Given the description of an element on the screen output the (x, y) to click on. 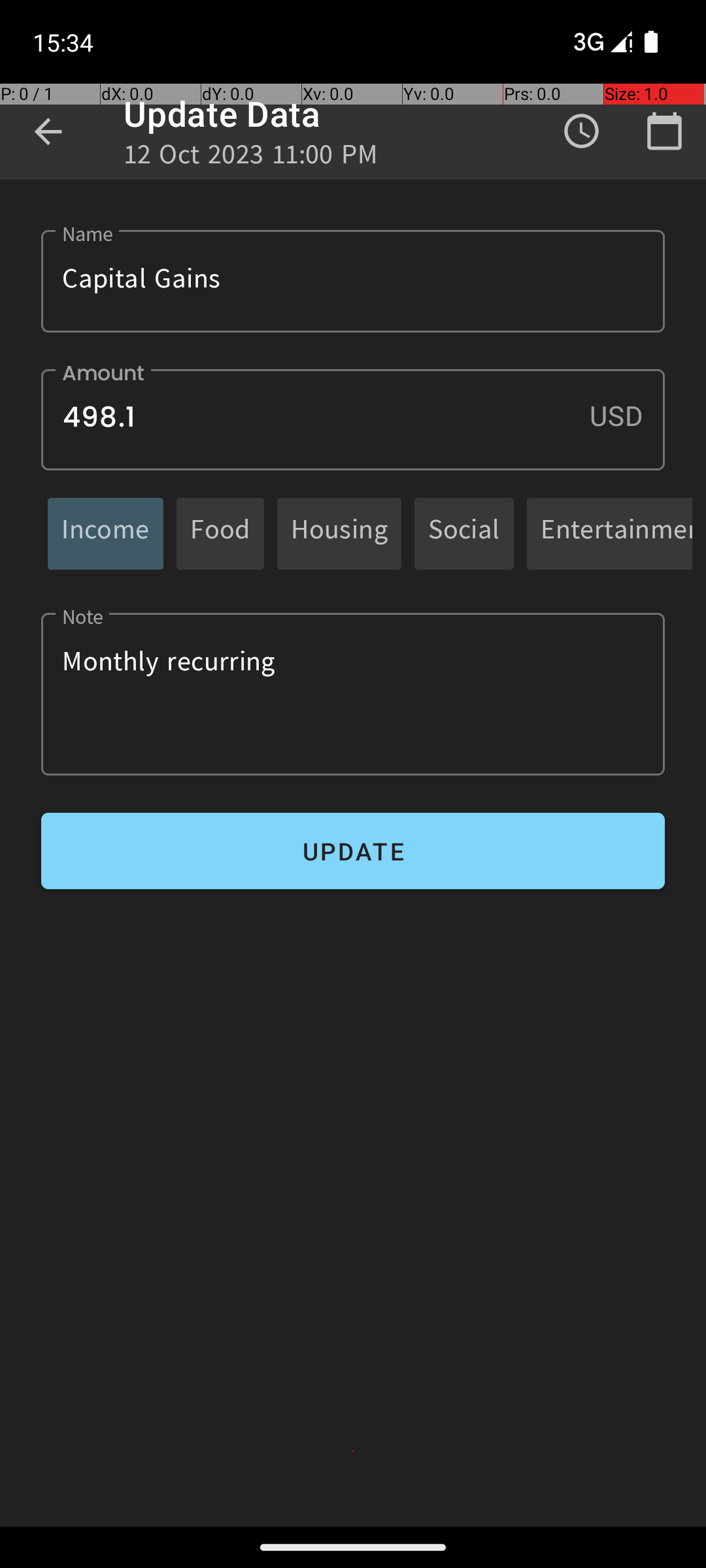
Update Data Element type: android.widget.TextView (221, 113)
12 Oct 2023 11:00 PM Element type: android.widget.TextView (250, 157)
Time Element type: android.widget.TextView (580, 131)
Calendar Element type: android.widget.TextView (664, 131)
Capital Gains Element type: android.widget.EditText (352, 280)
498.1 Element type: android.widget.EditText (352, 419)
Monthly recurring Element type: android.widget.EditText (352, 693)
UPDATE Element type: android.widget.Button (352, 850)
Income Element type: android.widget.TextView (105, 533)
Food Element type: android.widget.TextView (220, 533)
Housing Element type: android.widget.TextView (338, 533)
Social Element type: android.widget.TextView (464, 533)
Entertainment Element type: android.widget.TextView (616, 533)
